Given the description of an element on the screen output the (x, y) to click on. 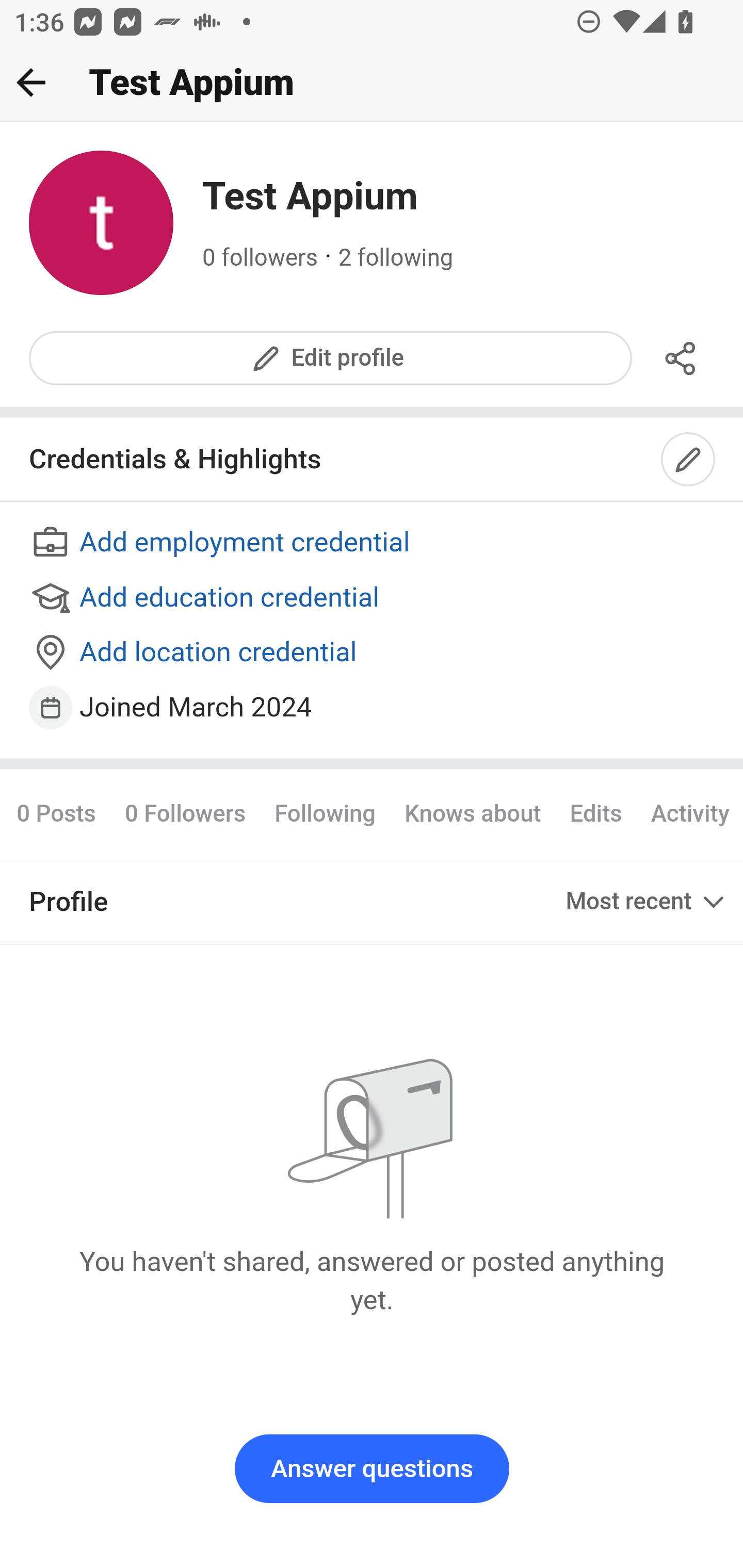
Back (30, 82)
0 followers (260, 257)
2 following (395, 257)
Share (681, 358)
Edit profile (330, 357)
Edit credentials (688, 459)
Add employment credential (372, 543)
Add education credential (372, 598)
Add location credential (372, 653)
0 Posts (63, 813)
0 Followers (184, 813)
Following (325, 813)
Knows about (473, 813)
Edits (595, 813)
Activity (689, 813)
Most recent (647, 901)
Answer questions (371, 1469)
